Given the description of an element on the screen output the (x, y) to click on. 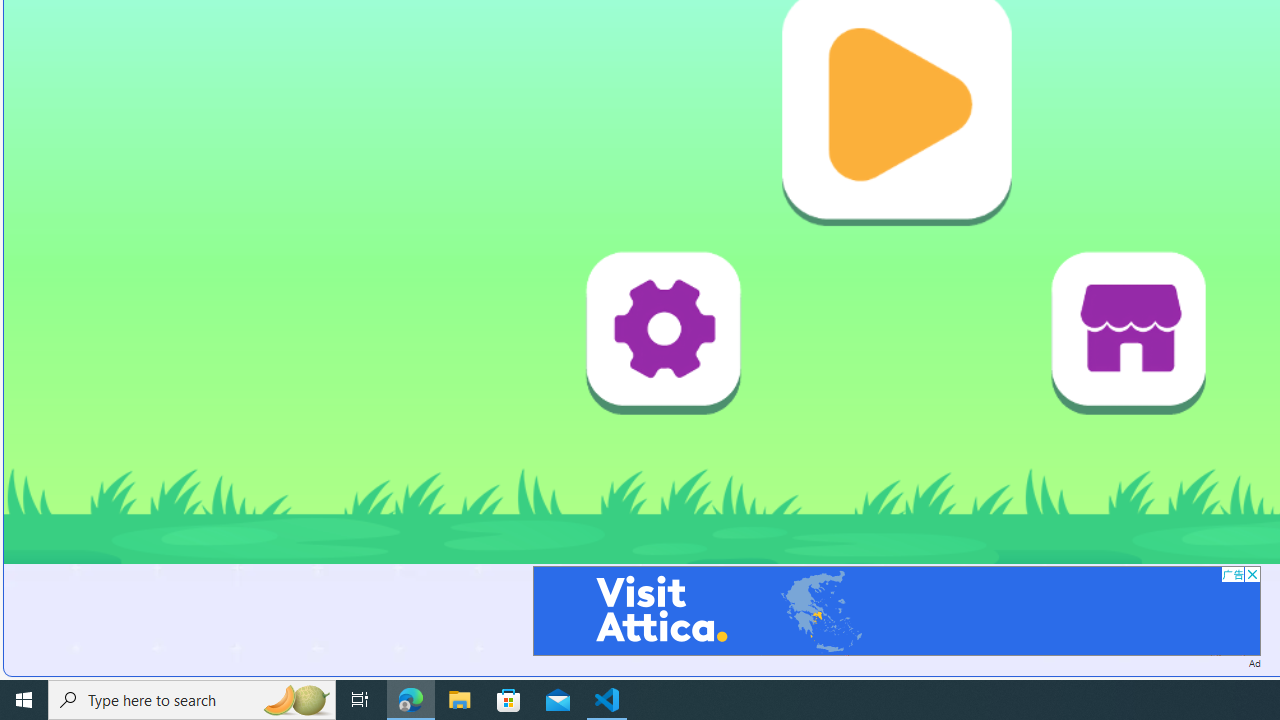
Advertisement (896, 610)
Advertisement (896, 610)
AutomationID: cbb (1252, 574)
